Given the description of an element on the screen output the (x, y) to click on. 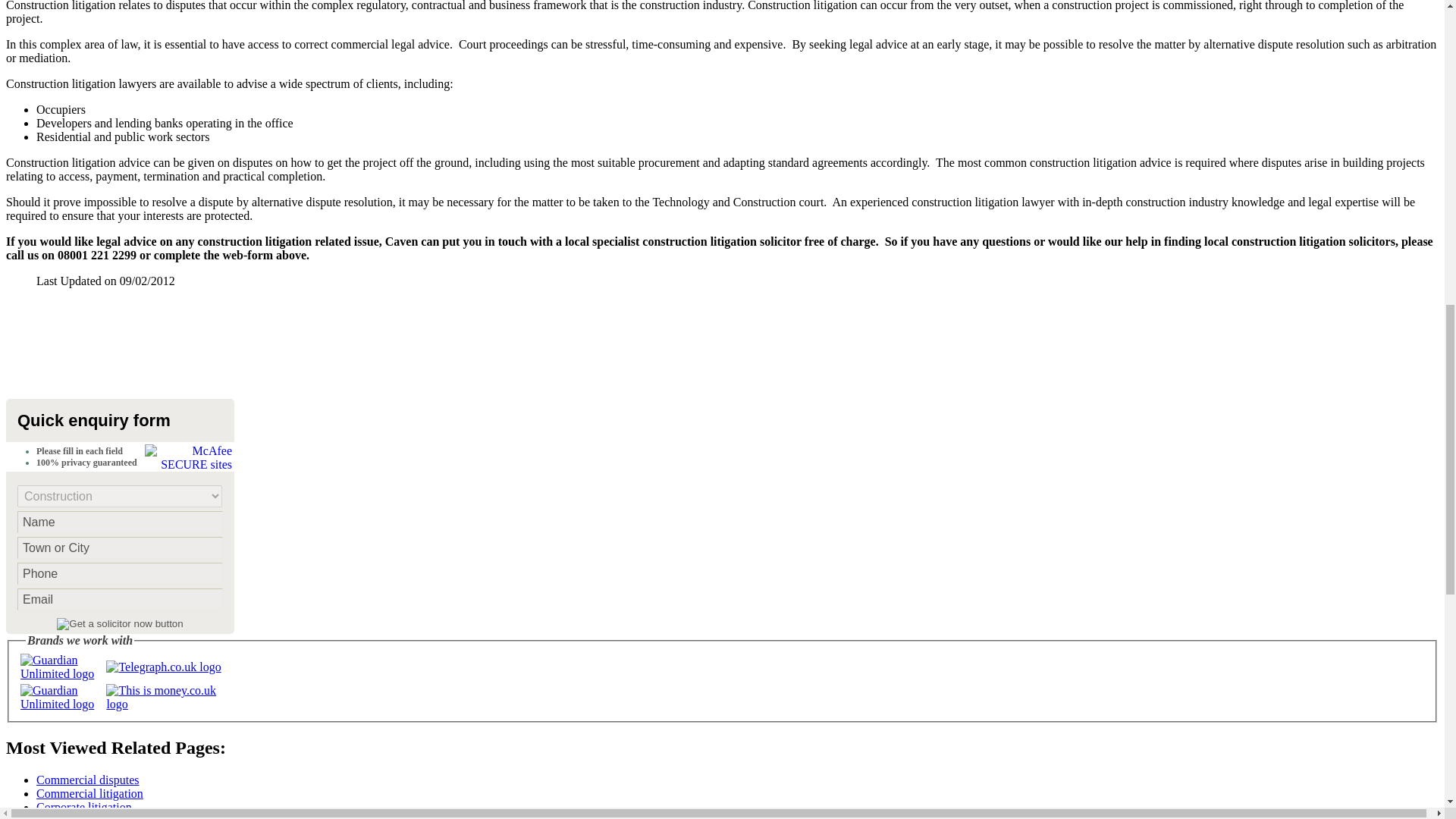
Name (119, 522)
Town or City (119, 547)
Phone (119, 573)
Email (119, 599)
